Given the description of an element on the screen output the (x, y) to click on. 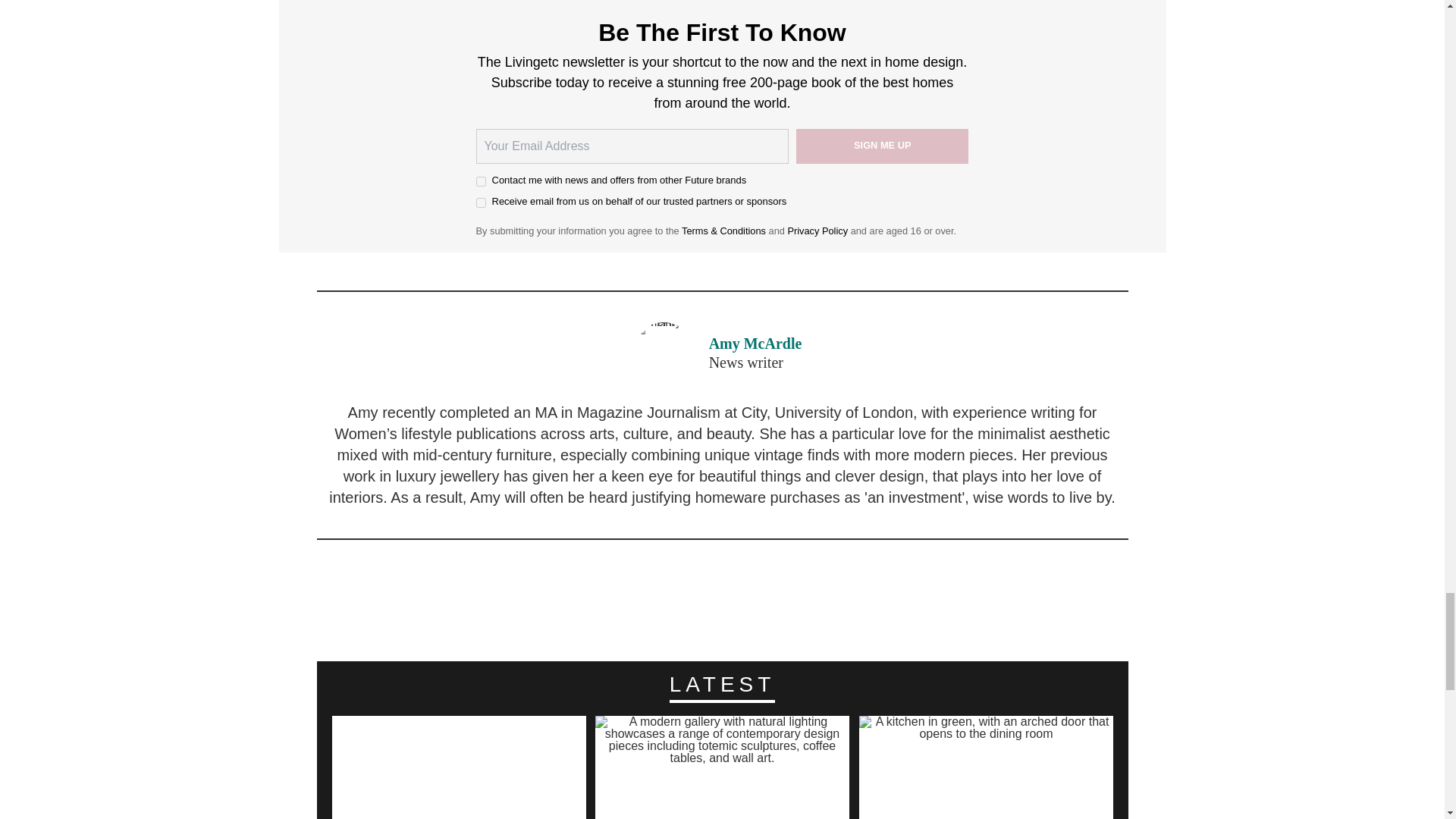
on (481, 180)
Sign me up (882, 145)
on (481, 203)
